Given the description of an element on the screen output the (x, y) to click on. 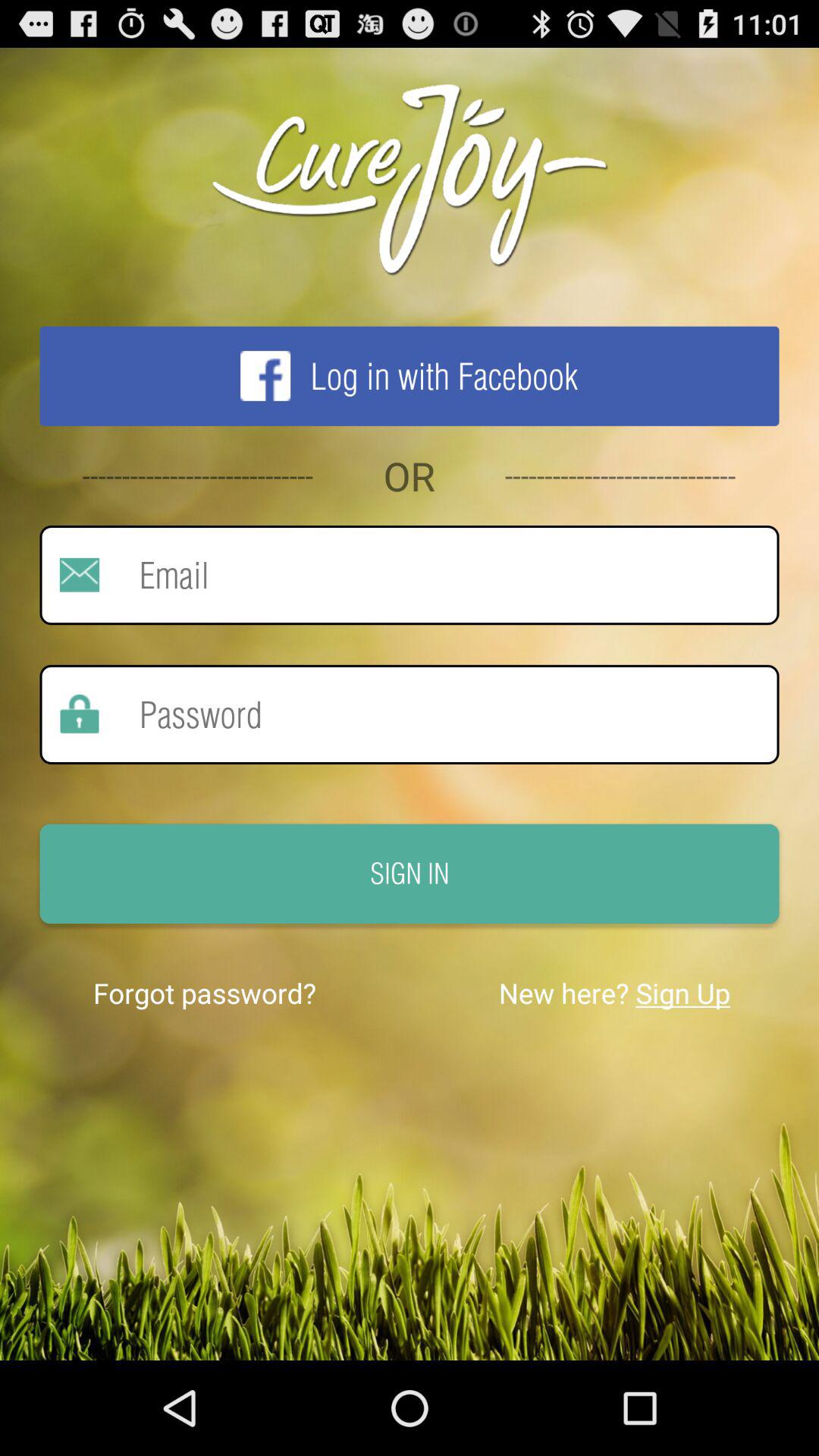
click to enter password (439, 714)
